Given the description of an element on the screen output the (x, y) to click on. 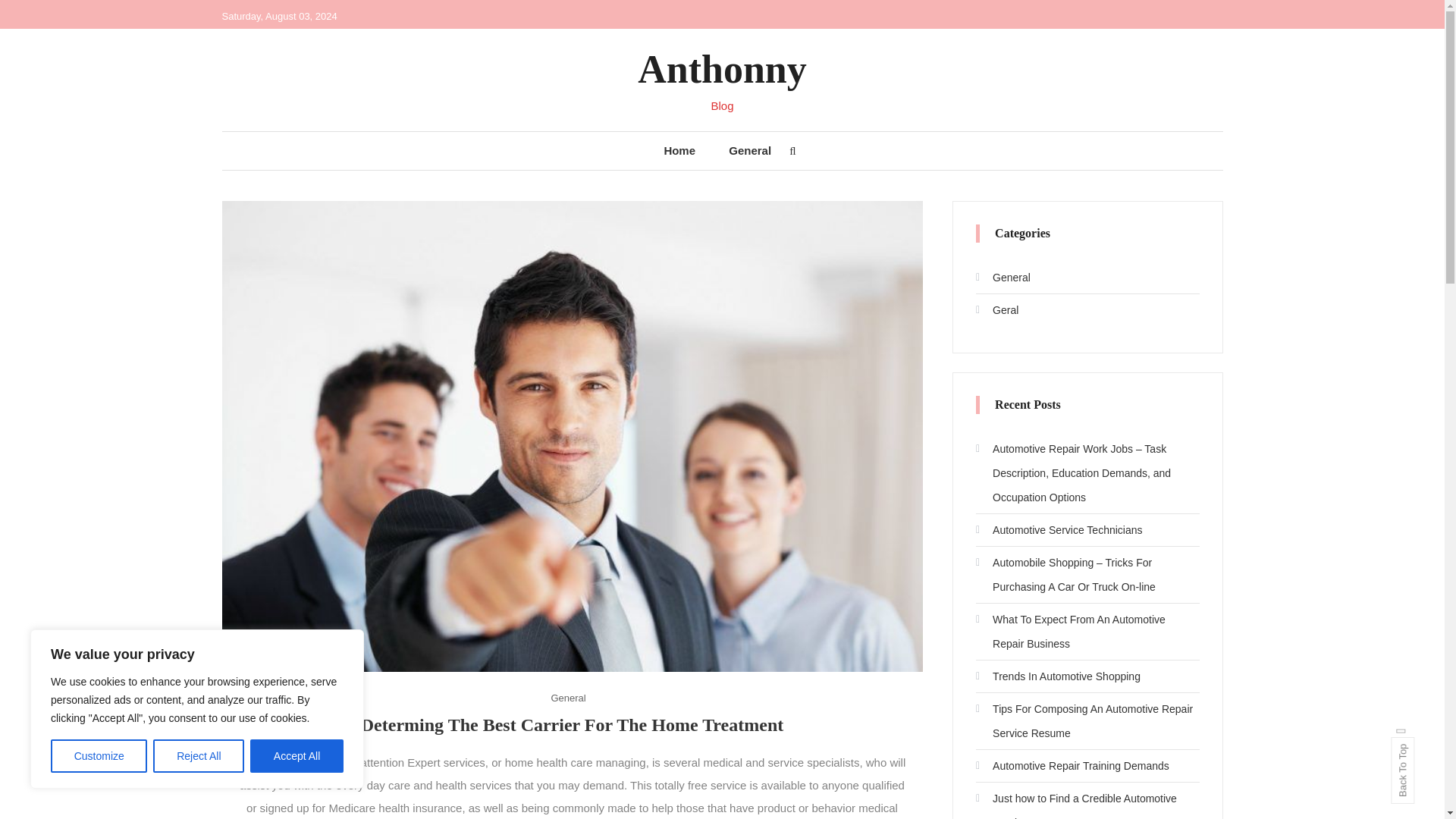
Reject All (198, 756)
Anthonny (721, 68)
General (1002, 277)
Home (678, 150)
Geral (996, 310)
General (749, 150)
Customize (98, 756)
Automotive Service Technicians (1058, 529)
General (567, 697)
Accept All (296, 756)
